Given the description of an element on the screen output the (x, y) to click on. 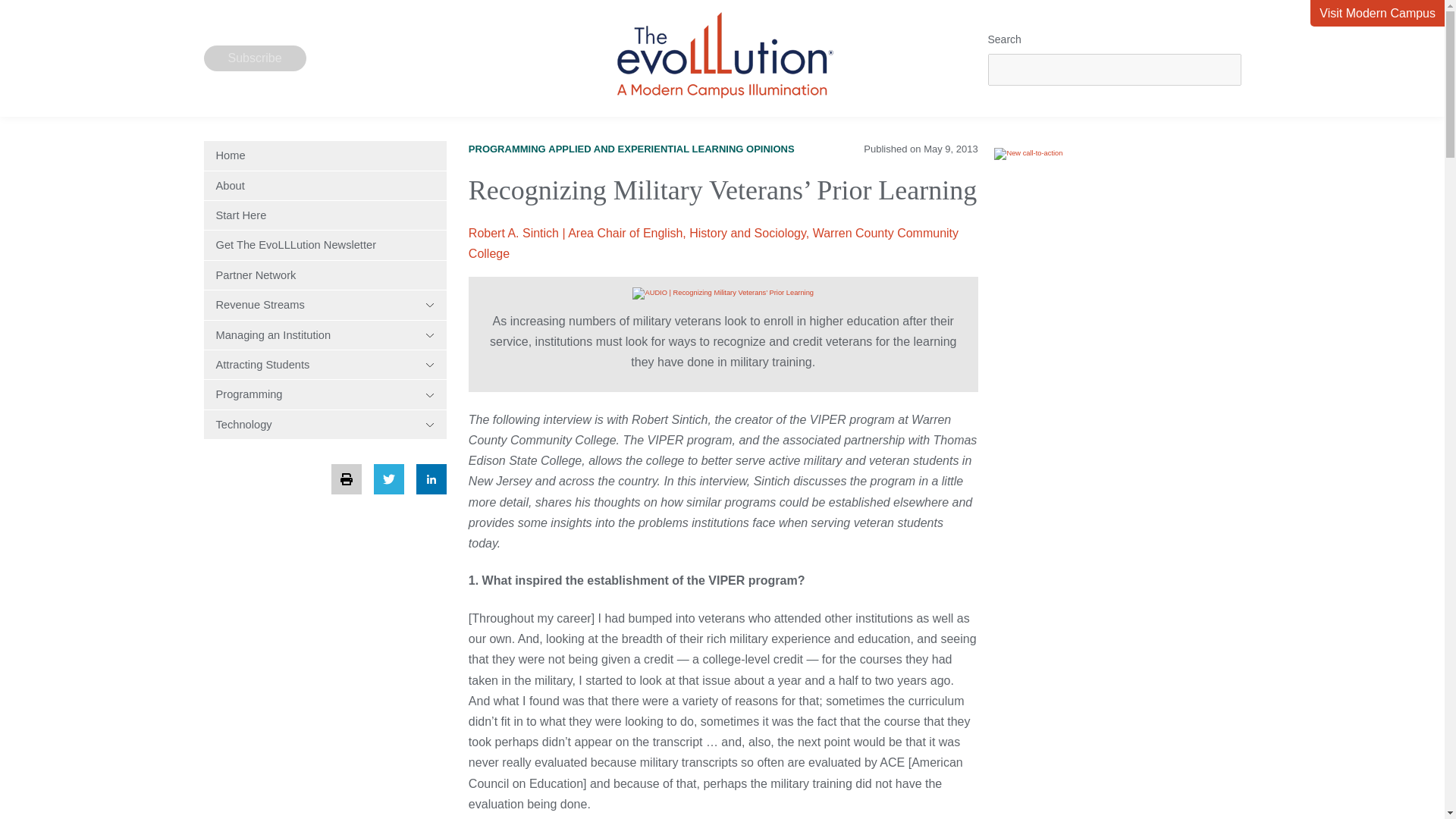
Attracting Students (324, 364)
Subscribe (254, 58)
About (324, 185)
Get The EvoLLLution Newsletter (324, 244)
Home (324, 154)
Partner Network (324, 275)
Programming (324, 394)
Start Here (324, 215)
Revenue Streams (324, 304)
Managing an Institution (324, 335)
